Given the description of an element on the screen output the (x, y) to click on. 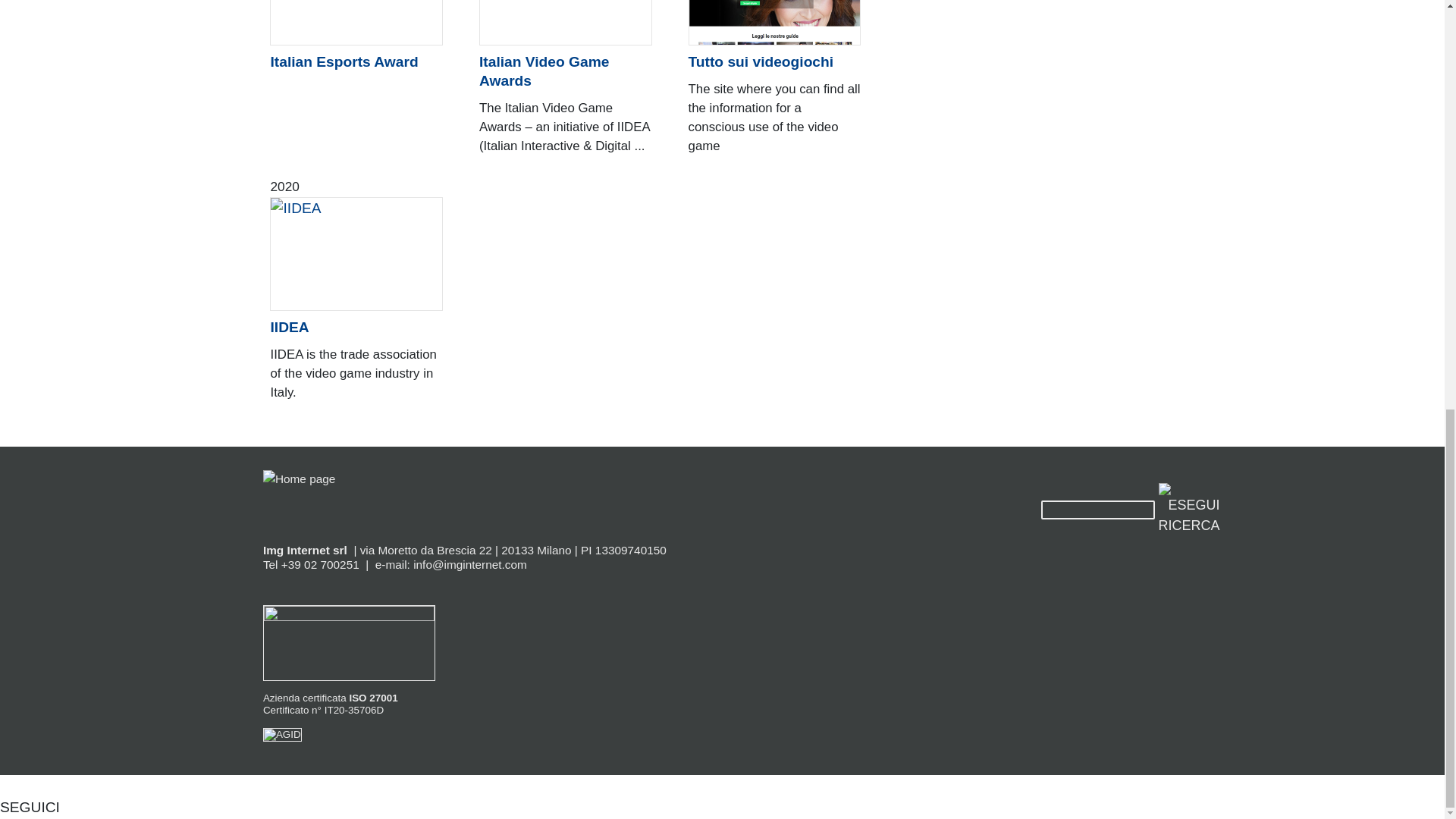
IIDEA (355, 327)
Search (1097, 509)
Italian Video Game Awards (565, 71)
Italian Esports Award (355, 62)
Italian Esports Award (356, 33)
Tutto sui videogiochi (774, 62)
Home page (298, 478)
Esegui ricerca (1189, 509)
